Given the description of an element on the screen output the (x, y) to click on. 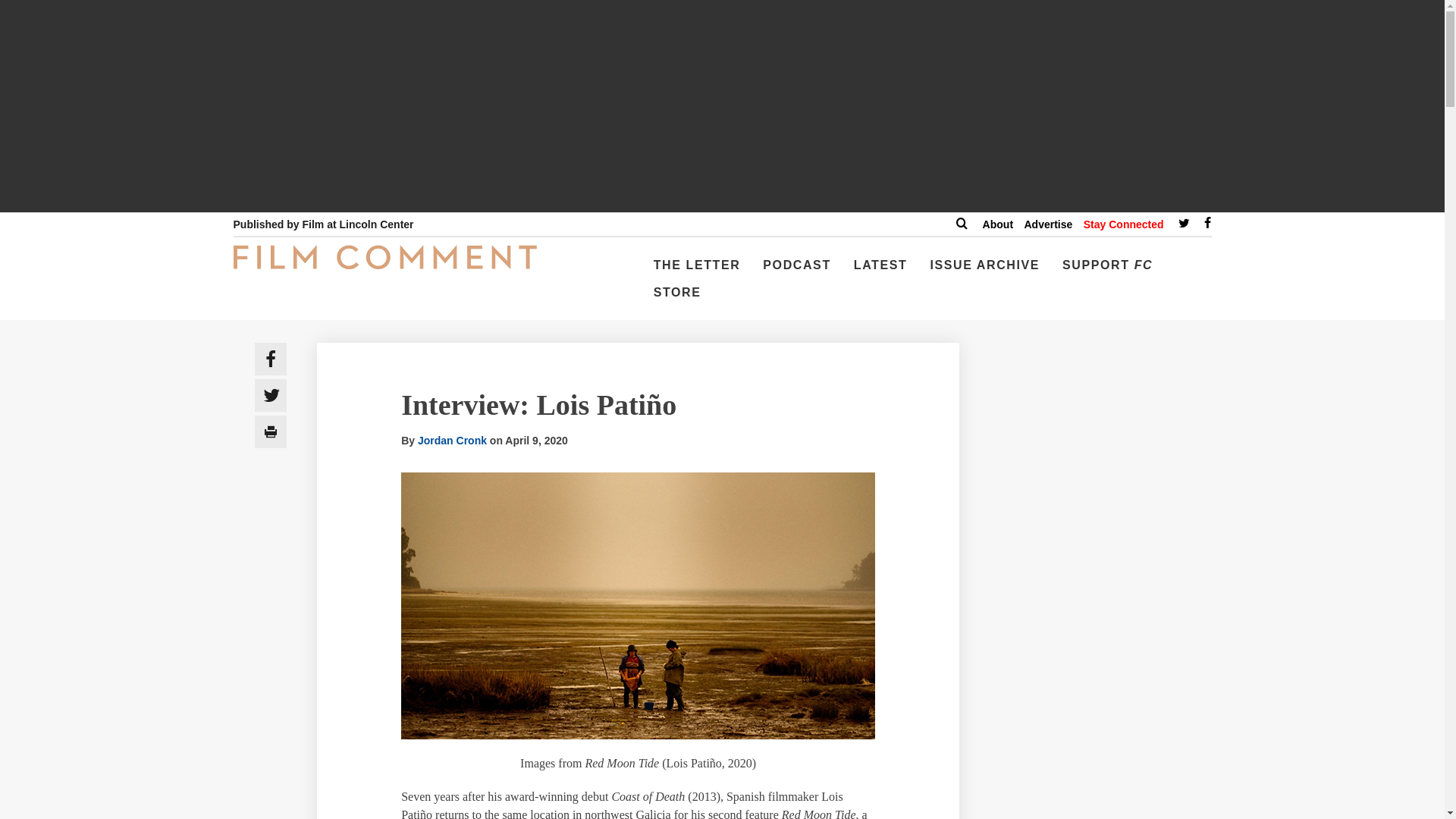
3rd party ad content (1103, 785)
STORE (677, 298)
Jordan Cronk (451, 440)
SUPPORT FC (1107, 271)
PODCAST (796, 271)
Stay Connected (1123, 224)
3rd party ad content (1103, 437)
LATEST (880, 271)
About (997, 224)
3rd party ad content (1103, 642)
ISSUE ARCHIVE (983, 271)
Advertise (1047, 224)
THE LETTER (697, 271)
Published by Film at Lincoln Center (322, 224)
